Given the description of an element on the screen output the (x, y) to click on. 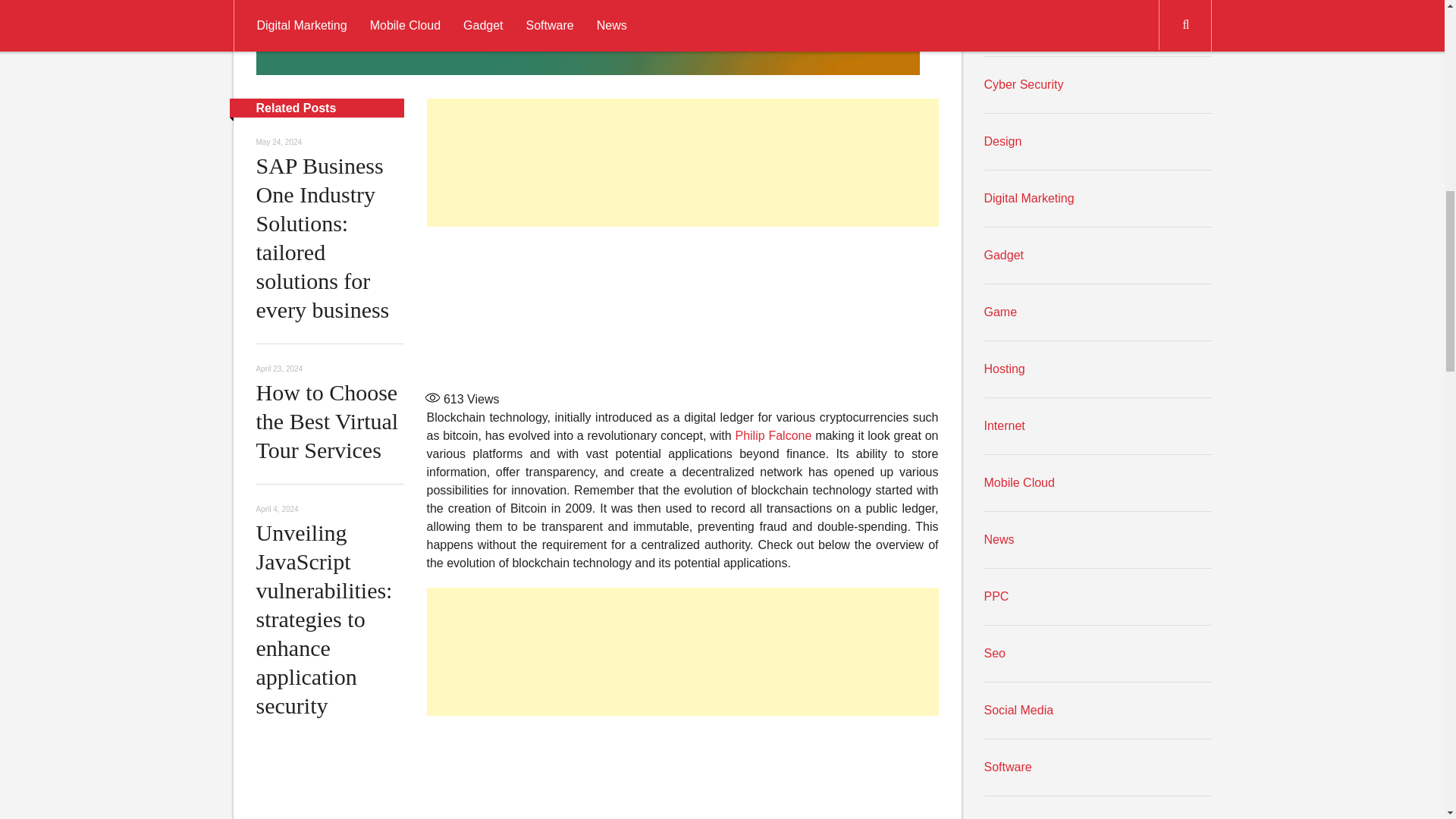
Philip Falcone (772, 435)
Cyber Security (1024, 83)
Permalink to How to Choose the Best Virtual Tour Services (327, 421)
How to Choose the Best Virtual Tour Services (327, 421)
Apps (997, 27)
